Given the description of an element on the screen output the (x, y) to click on. 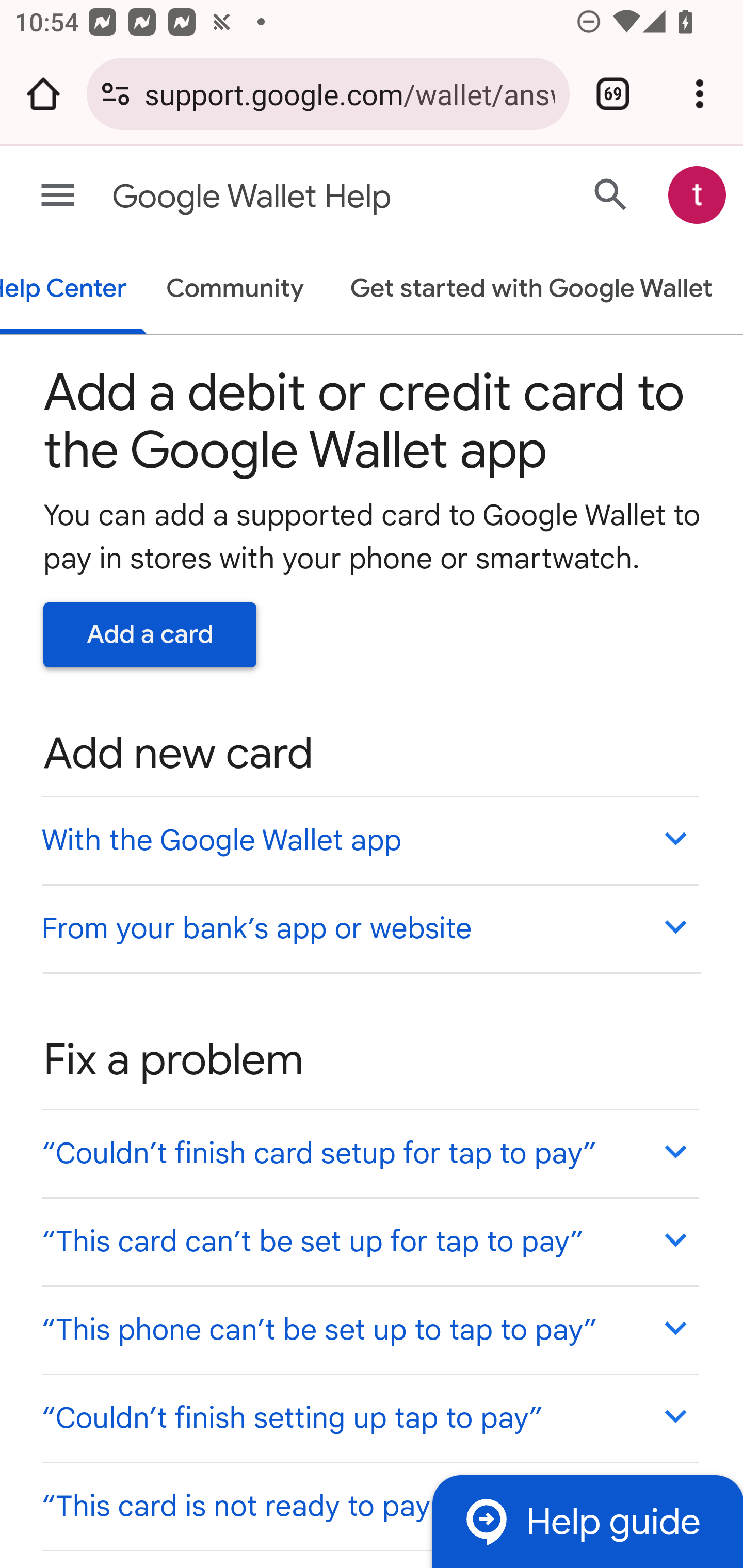
Open the home page (43, 93)
Connection is secure (115, 93)
Switch or close tabs (612, 93)
Customize and control Google Chrome (699, 93)
Main menu (58, 195)
Google Wallet Help (292, 197)
Search Help Center (611, 194)
Help Center (73, 289)
Community (235, 289)
Get started with Google Wallet (530, 289)
Add a card (150, 633)
With the Google Wallet app (369, 839)
From your bank’s app or website (369, 927)
“Couldn’t finish card setup for tap to pay” (369, 1152)
“This card can’t be set up for tap to pay” (369, 1240)
“This phone can’t be set up to tap to pay” (369, 1329)
“Couldn’t finish setting up tap to pay” (369, 1417)
“This card is not ready to pay online” (369, 1504)
Help guide (587, 1520)
